Given the description of an element on the screen output the (x, y) to click on. 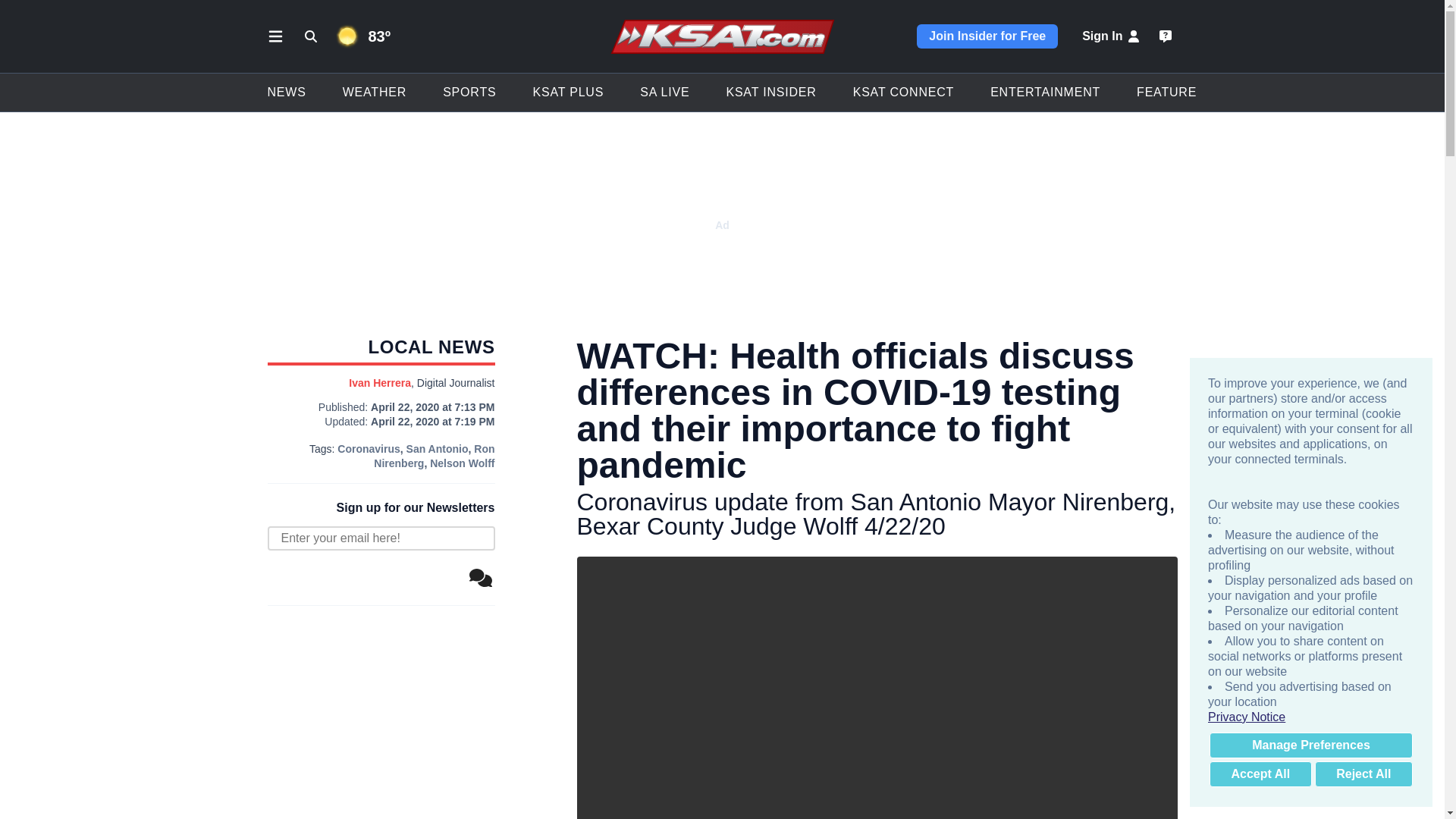
Privacy Notice (1310, 717)
Sign In (1111, 36)
Manage Preferences (1310, 745)
Reject All (1363, 774)
Accept All (1260, 774)
Join Insider for Free (987, 36)
